Given the description of an element on the screen output the (x, y) to click on. 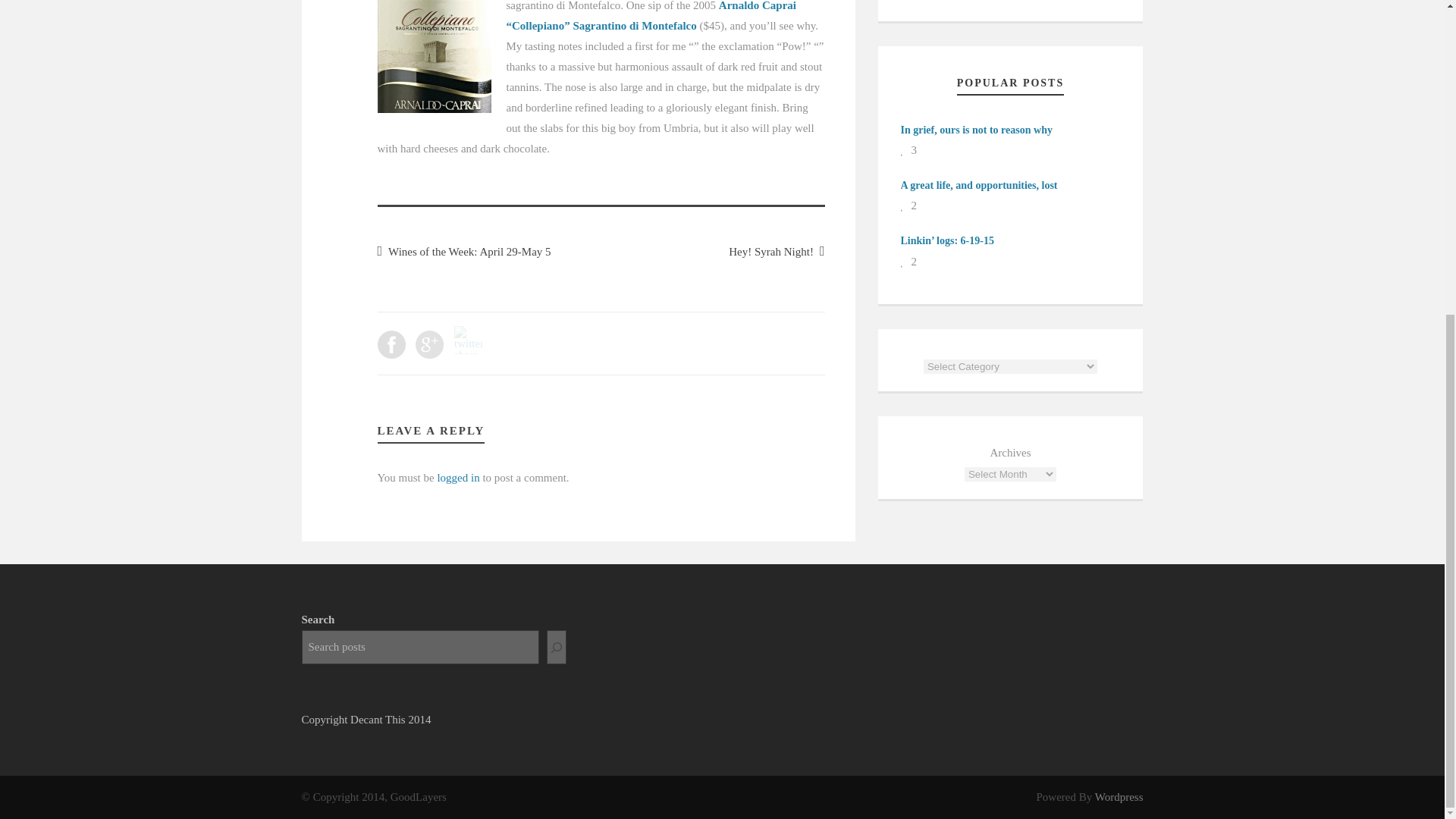
Wines of the Week: April 29-May 5 (464, 251)
logged in (457, 477)
Hey! Syrah Night! (776, 251)
